Given the description of an element on the screen output the (x, y) to click on. 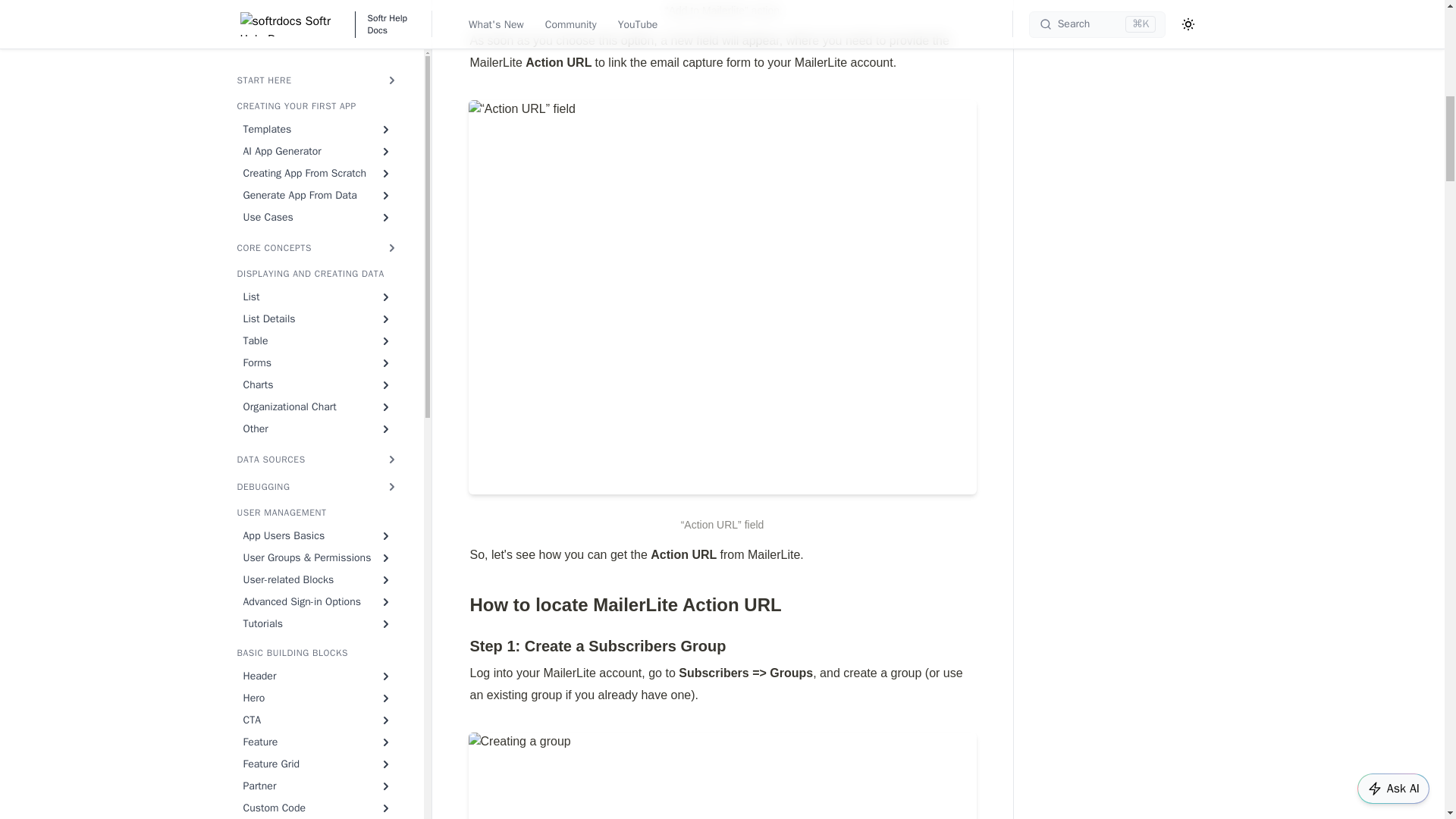
Other (316, 11)
Page and Block Settings (316, 85)
App Settings (316, 63)
